Given the description of an element on the screen output the (x, y) to click on. 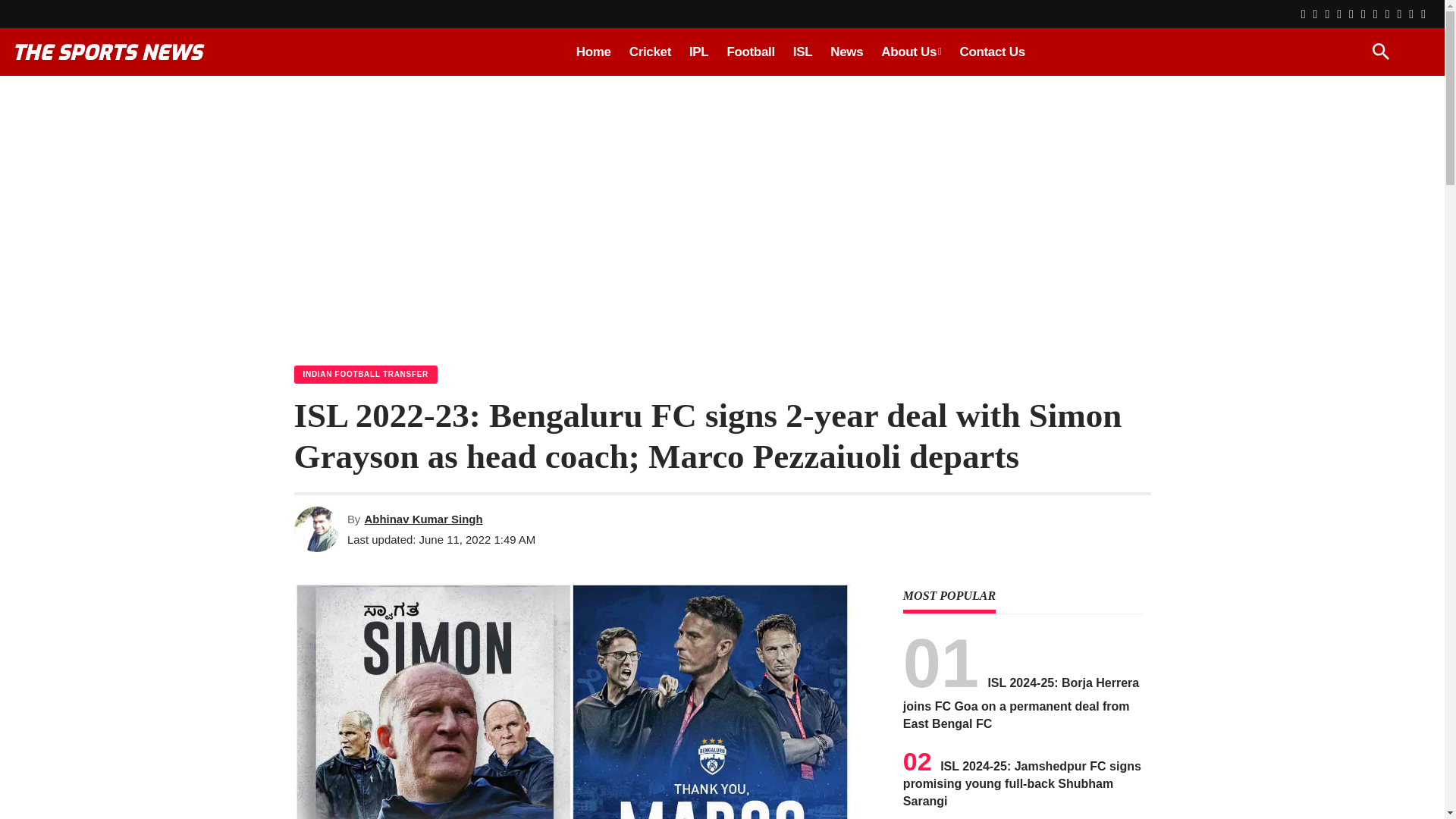
Contact Us (991, 51)
Home (593, 51)
Football (750, 51)
Cricket (649, 51)
News (846, 51)
About Us (911, 51)
